Given the description of an element on the screen output the (x, y) to click on. 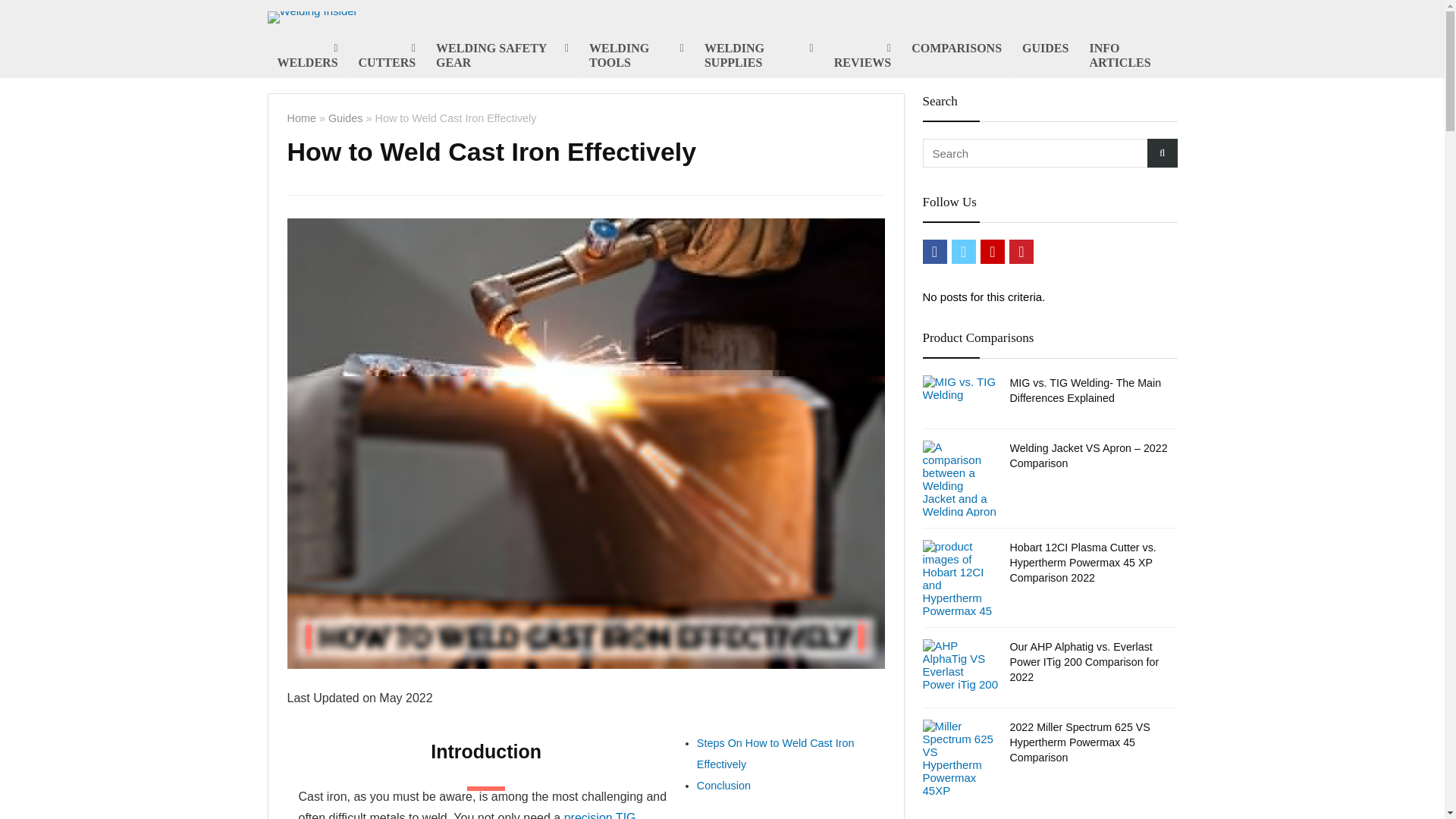
CUTTERS (387, 56)
WELDING SAFETY GEAR (502, 56)
WELDERS (306, 56)
